Given the description of an element on the screen output the (x, y) to click on. 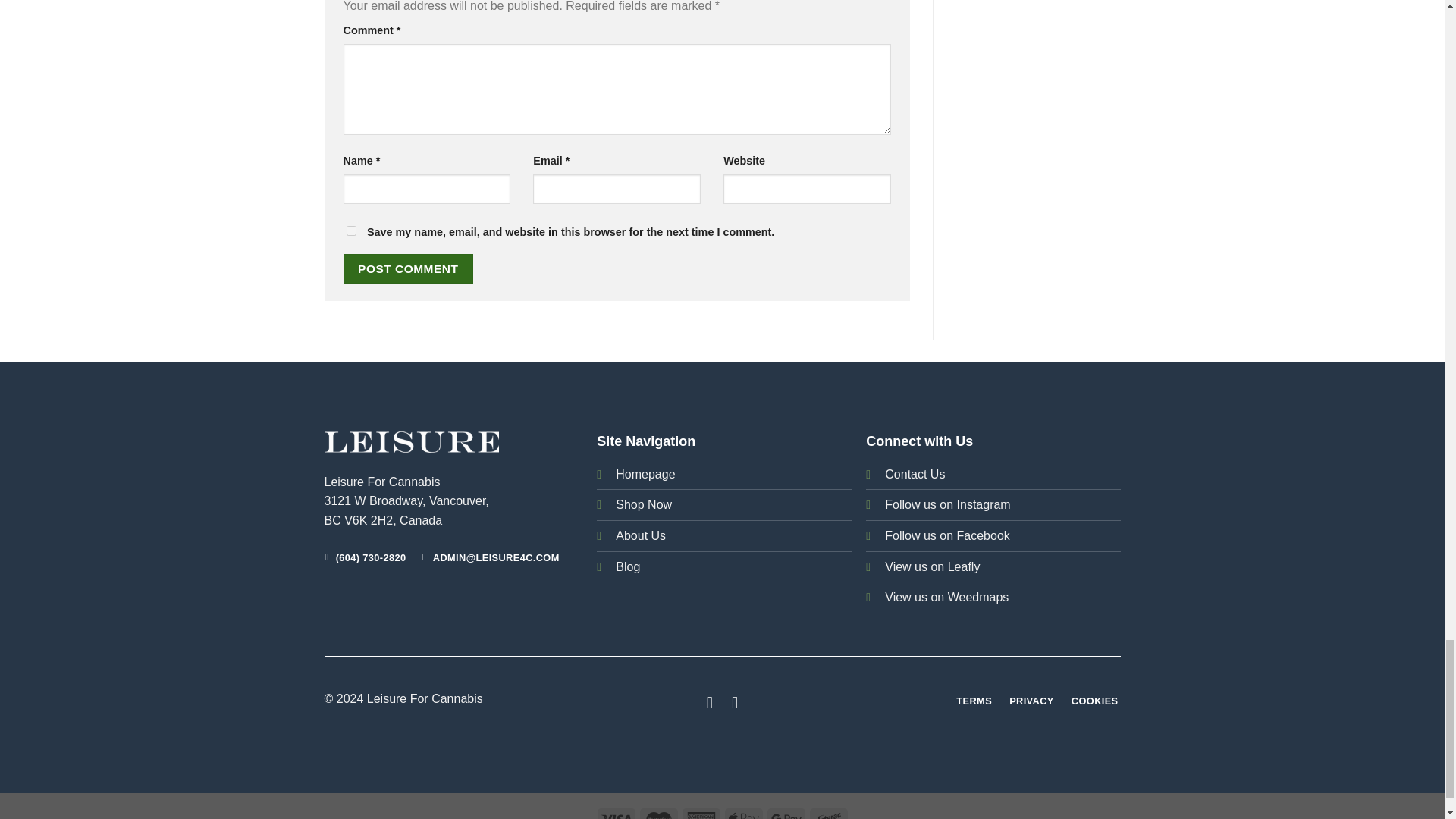
yes (350, 230)
Post Comment (407, 268)
